Given the description of an element on the screen output the (x, y) to click on. 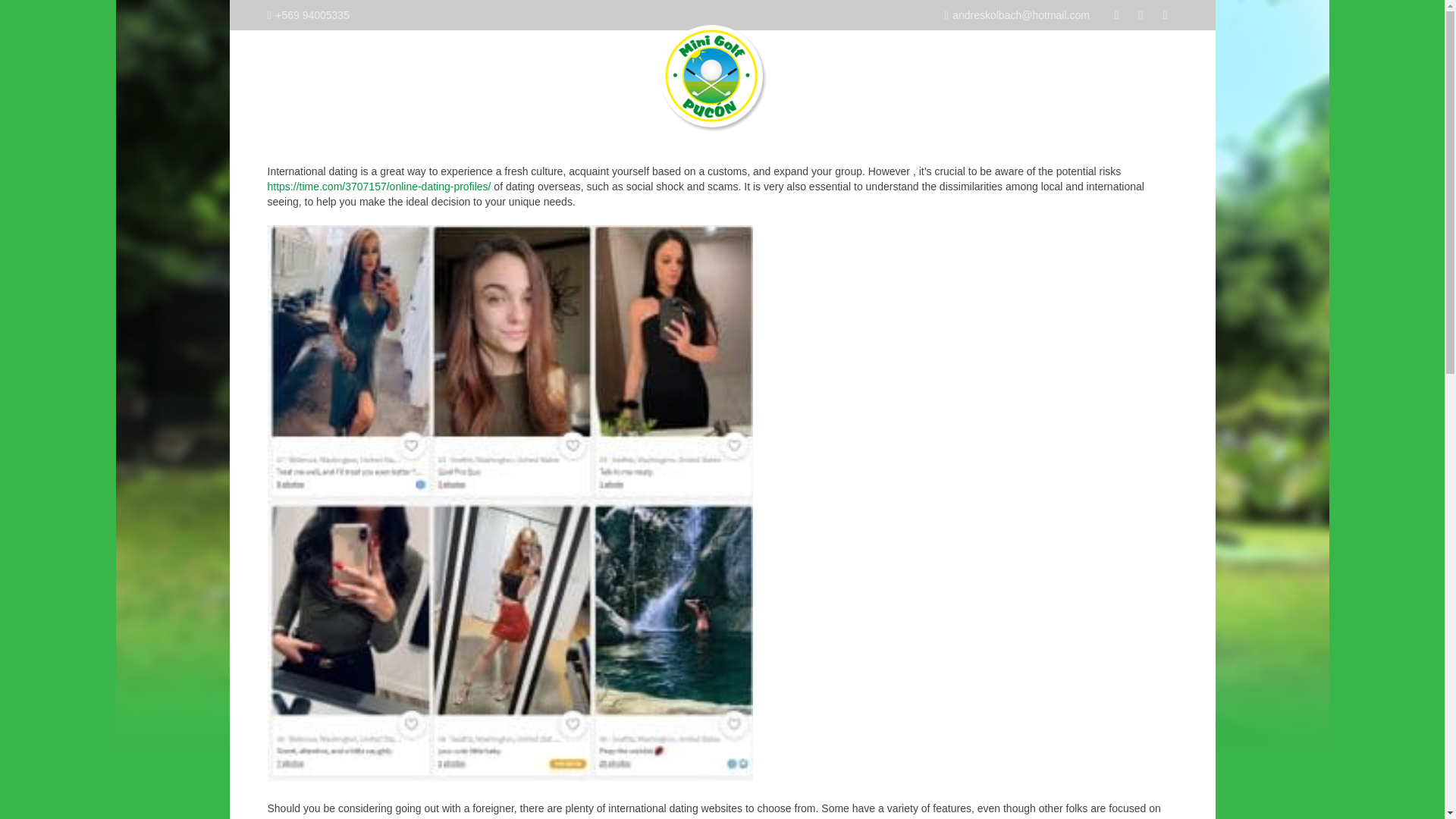
INICIO (341, 74)
Instagram (1140, 15)
RESIDENTES (481, 74)
Facebook (1115, 15)
MINIGOLF (401, 74)
Horarios (1164, 15)
CONTACTO (1088, 74)
HORARIOS (1010, 74)
ARRIENDO DE MULTI-SALA (887, 74)
RESTAURANT (571, 74)
